Given the description of an element on the screen output the (x, y) to click on. 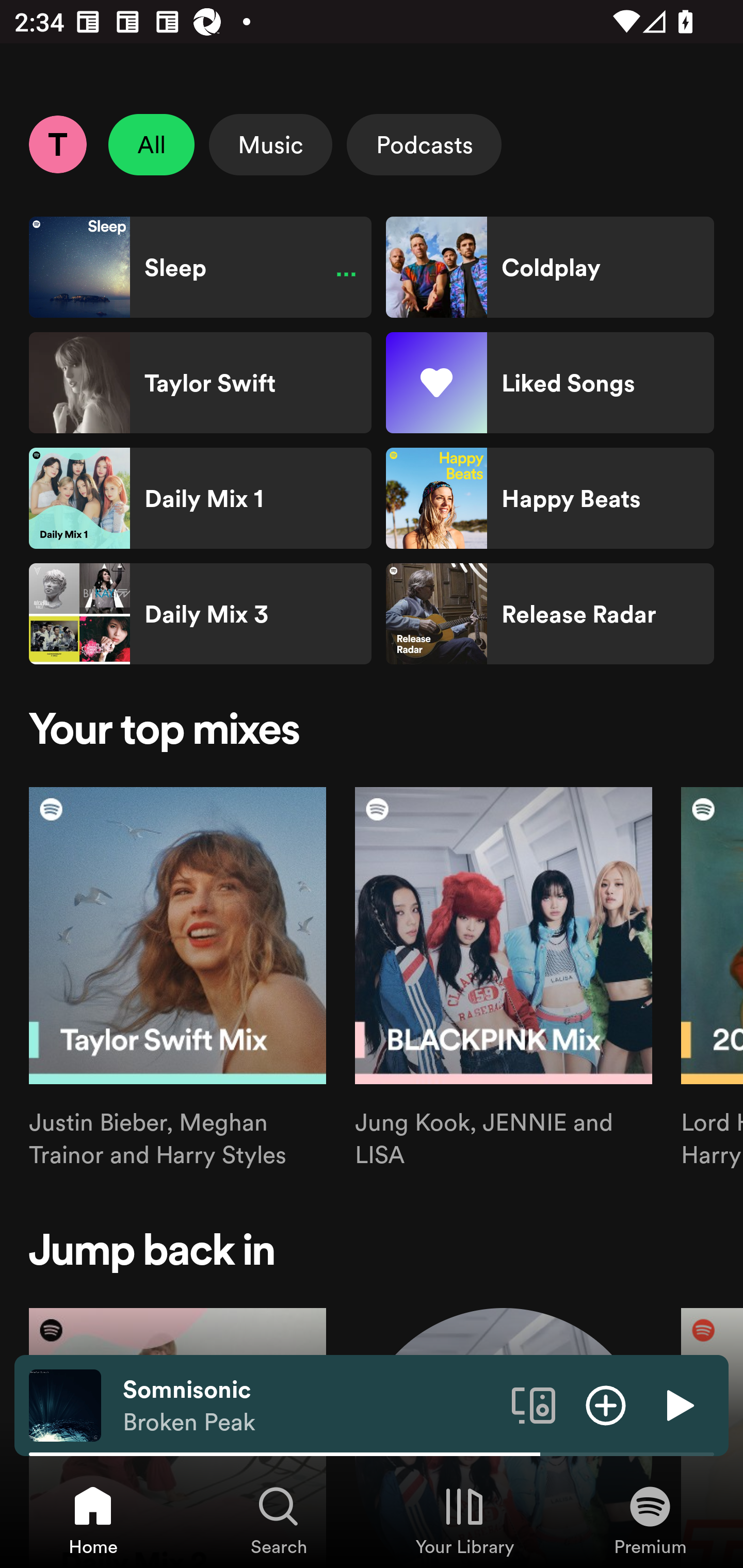
Profile (57, 144)
All Unselect All (151, 144)
Music Select Music (270, 144)
Podcasts Select Podcasts (423, 144)
Sleep Shortcut Sleep Paused (199, 267)
Coldplay Shortcut Coldplay (549, 267)
Taylor Swift Shortcut Taylor Swift (199, 382)
Liked Songs Shortcut Liked Songs (549, 382)
Daily Mix 1 Shortcut Daily Mix 1 (199, 498)
Happy Beats Shortcut Happy Beats (549, 498)
Daily Mix 3 Shortcut Daily Mix 3 (199, 613)
Release Radar Shortcut Release Radar (549, 613)
Somnisonic Broken Peak (309, 1405)
The cover art of the currently playing track (64, 1404)
Connect to a device. Opens the devices menu (533, 1404)
Add item (605, 1404)
Play (677, 1404)
Home, Tab 1 of 4 Home Home (92, 1519)
Search, Tab 2 of 4 Search Search (278, 1519)
Your Library, Tab 3 of 4 Your Library Your Library (464, 1519)
Premium, Tab 4 of 4 Premium Premium (650, 1519)
